Given the description of an element on the screen output the (x, y) to click on. 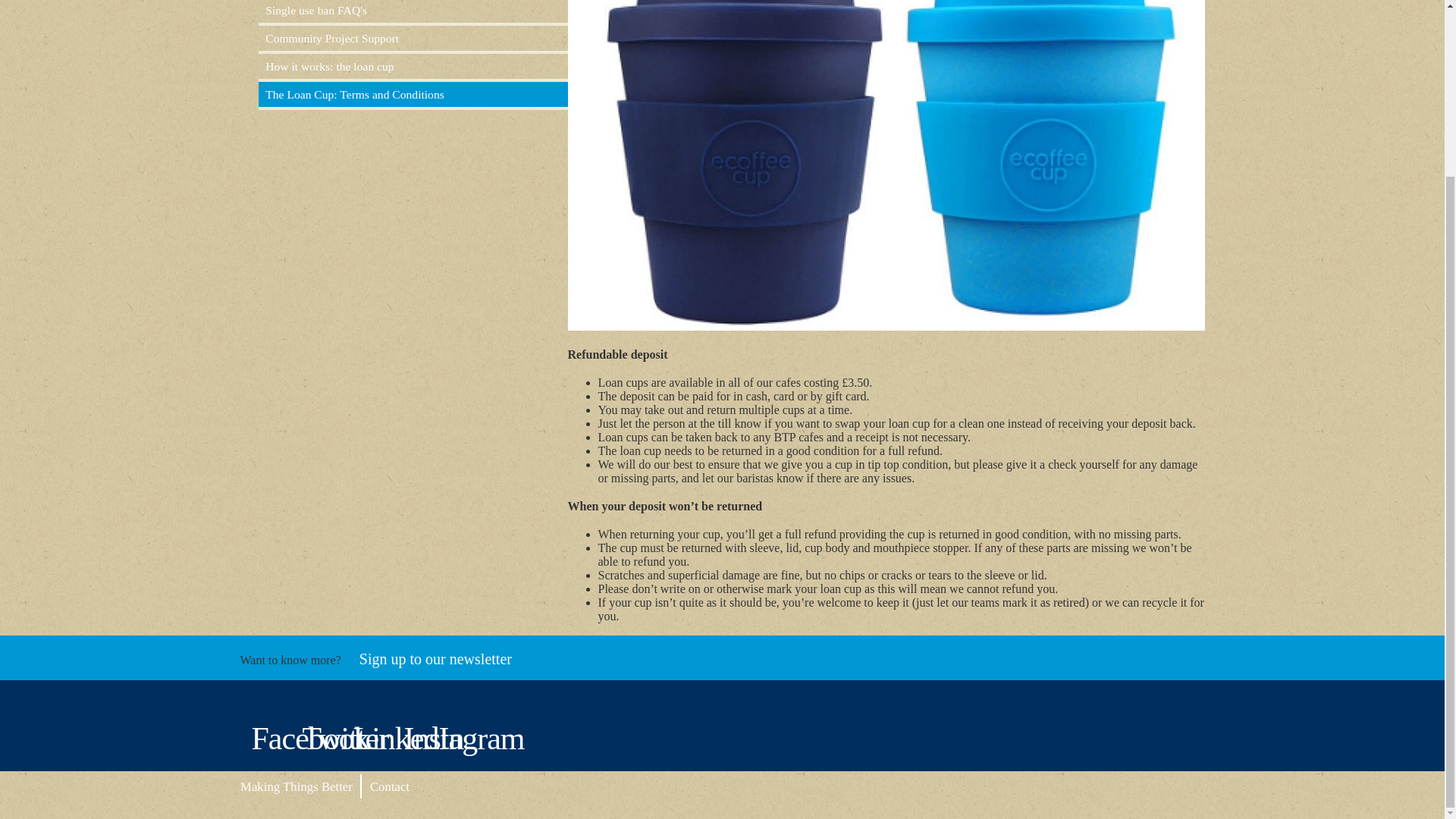
How it works: the loan cup (412, 66)
Single use ban FAQ's (412, 11)
Making Things Better (295, 785)
Contact (388, 785)
The Loan Cup: Terms and Conditions (412, 94)
Community Project Support (412, 37)
Sign up to our newsletter (435, 658)
